Given the description of an element on the screen output the (x, y) to click on. 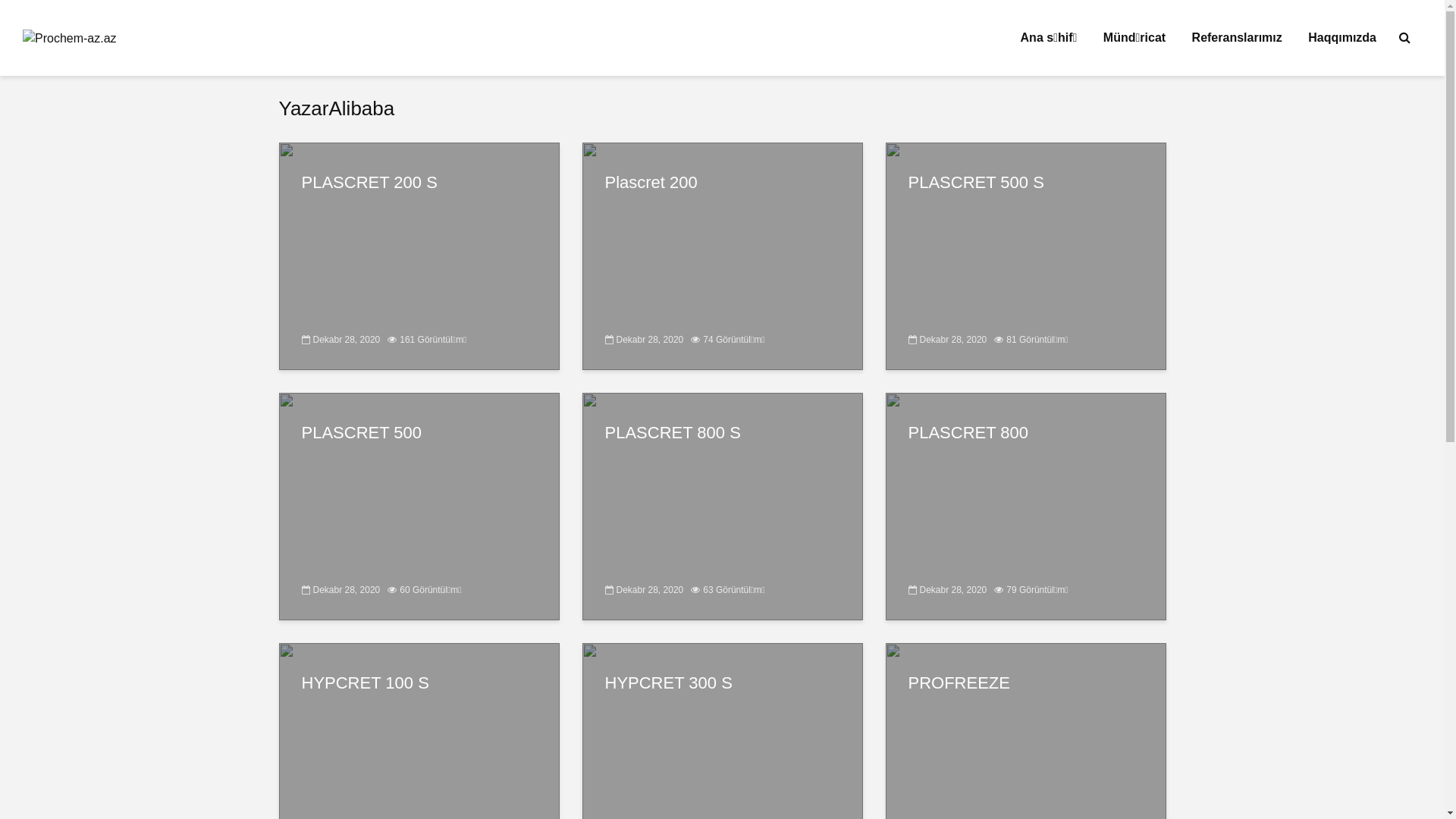
PLASCRET 800 Element type: text (1025, 432)
PLASCRET 500 Element type: text (418, 432)
HYPCRET 100 S Element type: text (418, 682)
HYPCRET 100 S Element type: hover (419, 755)
Plascret 200 Element type: hover (722, 254)
PLASCRET 800 S Element type: hover (722, 504)
PROFREEZE Element type: text (1025, 682)
PLASCRET 200 S Element type: hover (419, 254)
PROFREEZE Element type: hover (1025, 755)
PLASCRET 500 Element type: hover (419, 504)
PLASCRET 200 S Element type: text (418, 182)
HYPCRET 300 S Element type: hover (722, 755)
PLASCRET 800 S Element type: text (722, 432)
HYPCRET 300 S Element type: text (722, 682)
PLASCRET 500 S Element type: hover (1025, 254)
PLASCRET 800 Element type: hover (1025, 504)
Plascret 200 Element type: text (722, 182)
PLASCRET 500 S Element type: text (1025, 182)
